Given the description of an element on the screen output the (x, y) to click on. 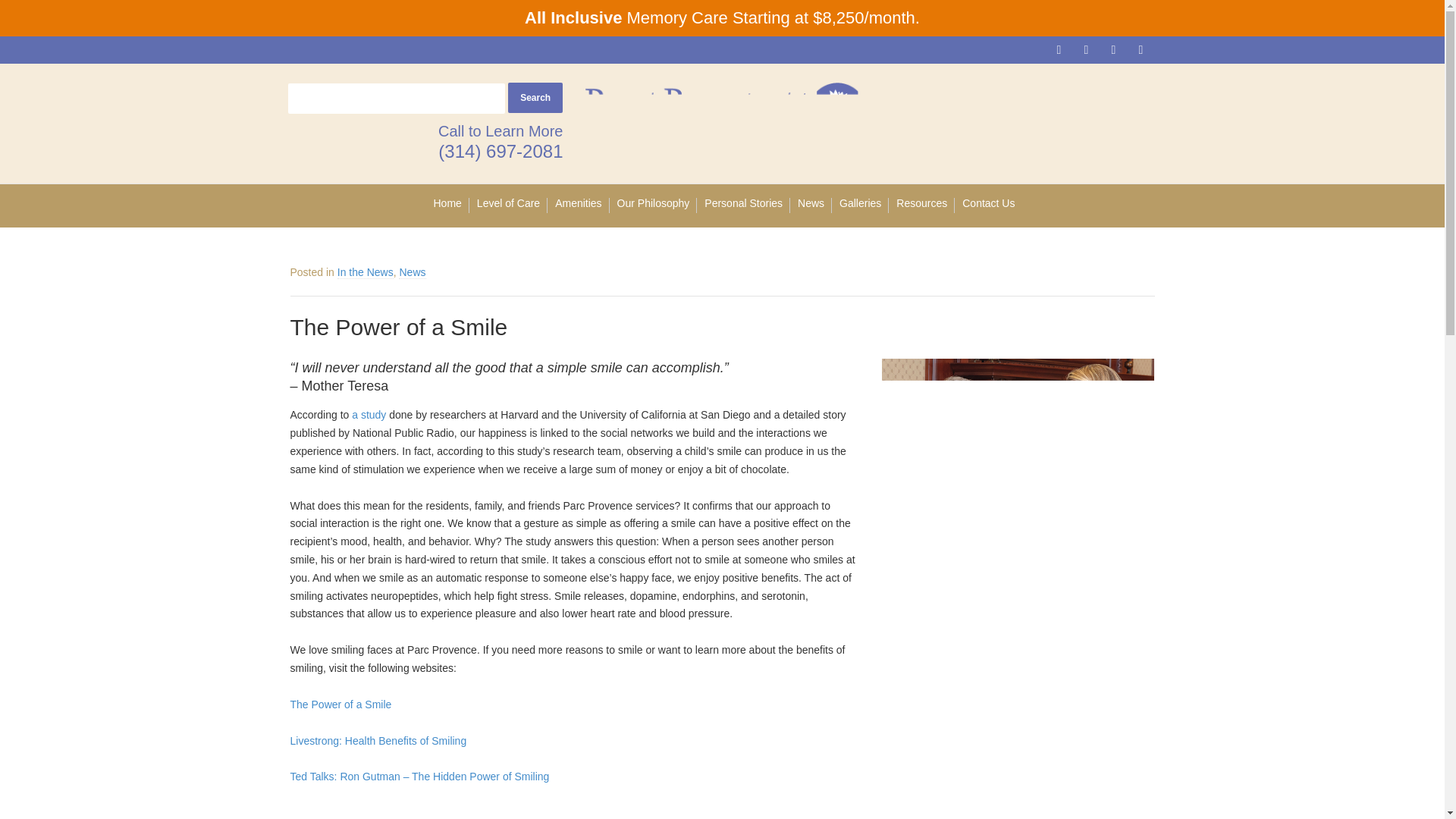
Search (535, 96)
